Given the description of an element on the screen output the (x, y) to click on. 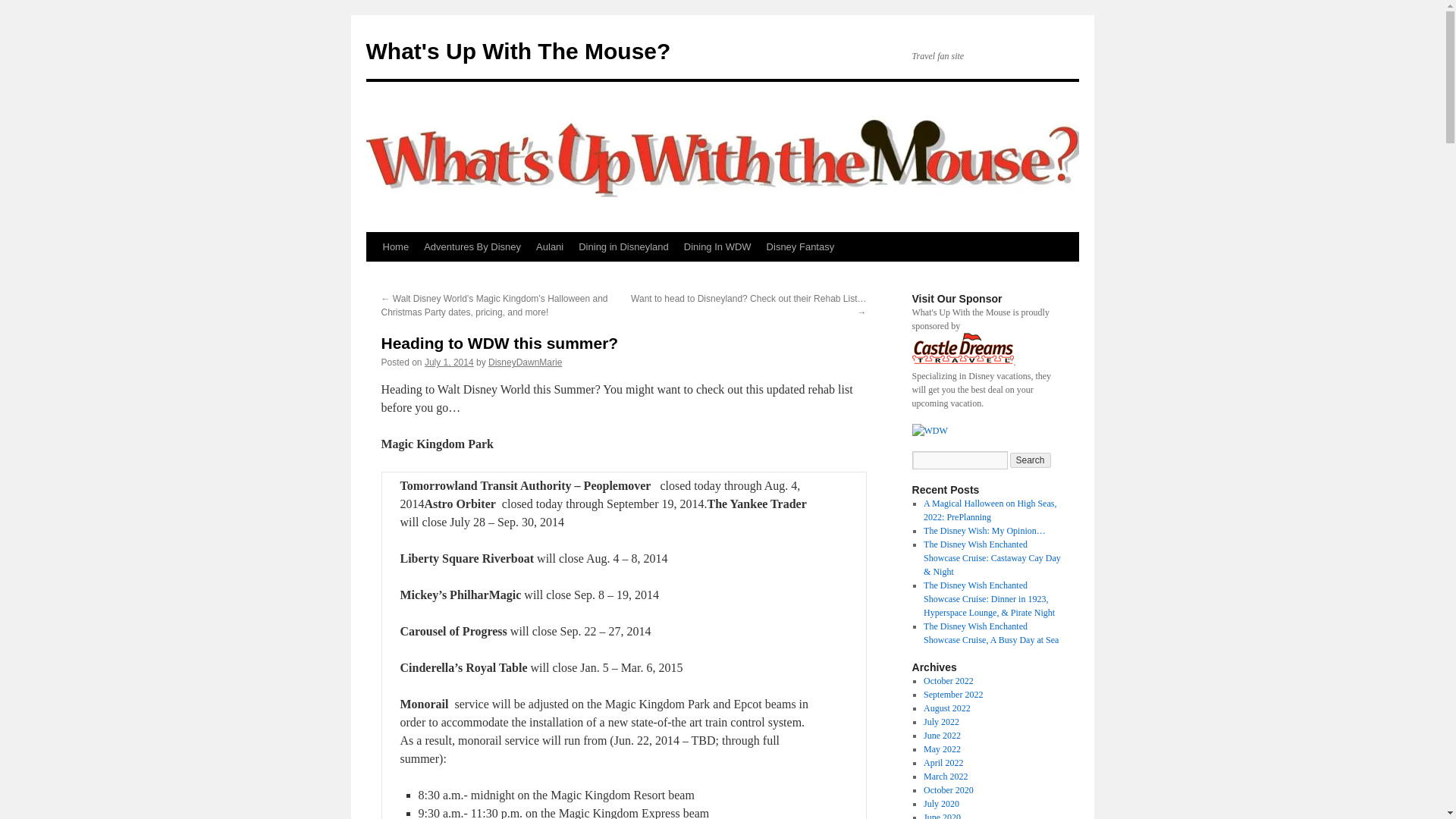
Disney Fantasy (800, 246)
Adventures By Disney (472, 246)
Search (1030, 459)
12:44 pm (449, 362)
Dining In WDW (717, 246)
DisneyDawnMarie (524, 362)
July 1, 2014 (449, 362)
What's Up With The Mouse? (517, 50)
Dining in Disneyland (623, 246)
View all posts by DisneyDawnMarie (524, 362)
